Given the description of an element on the screen output the (x, y) to click on. 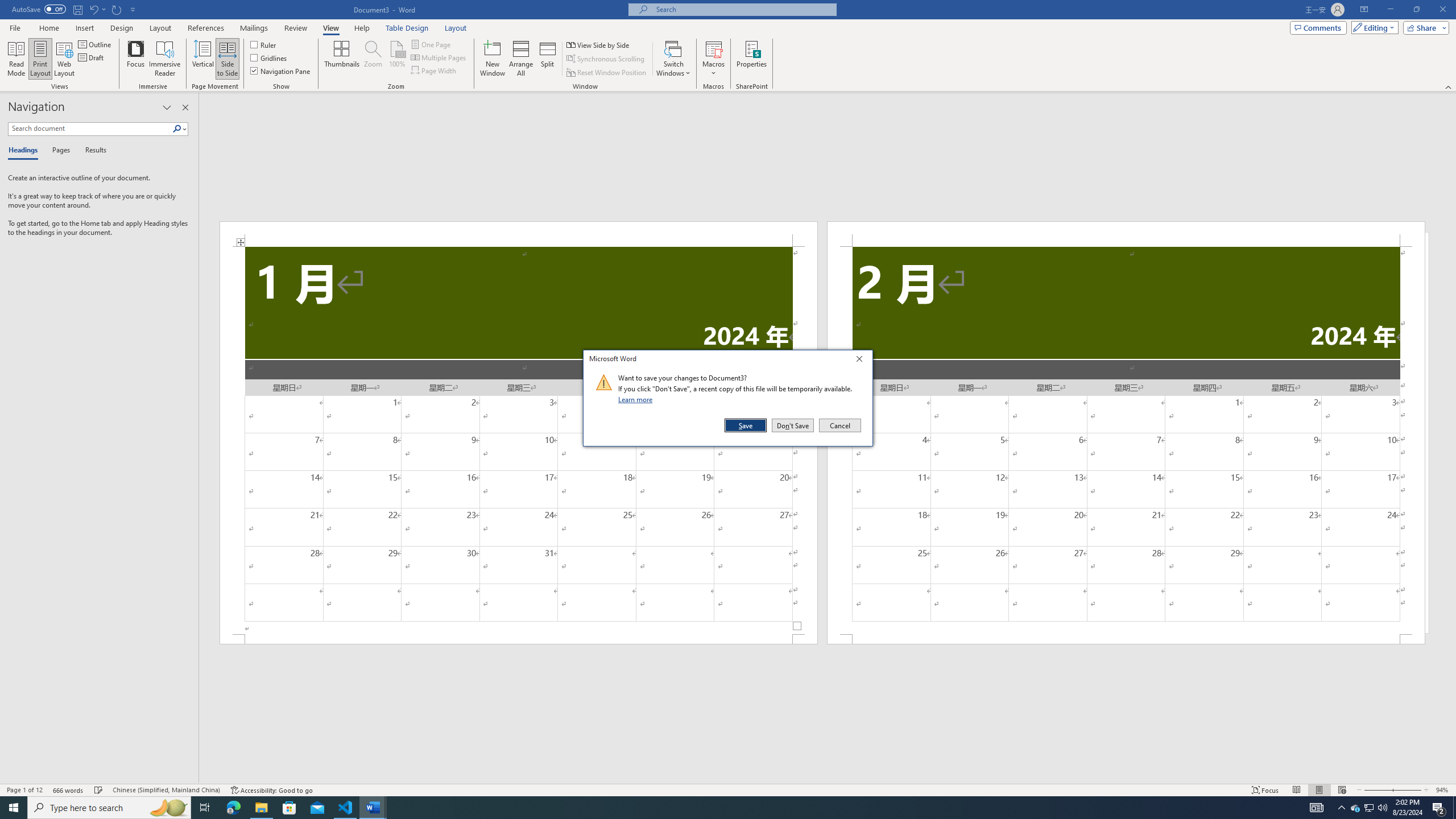
Immersive Reader (165, 58)
Macros (713, 58)
Microsoft search (742, 9)
Multiple Pages (439, 56)
Undo Increase Indent (92, 9)
Show desktop (1454, 807)
Search highlights icon opens search home window (167, 807)
Language Chinese (Simplified, Mainland China) (1355, 807)
Pages (165, 790)
